Given the description of an element on the screen output the (x, y) to click on. 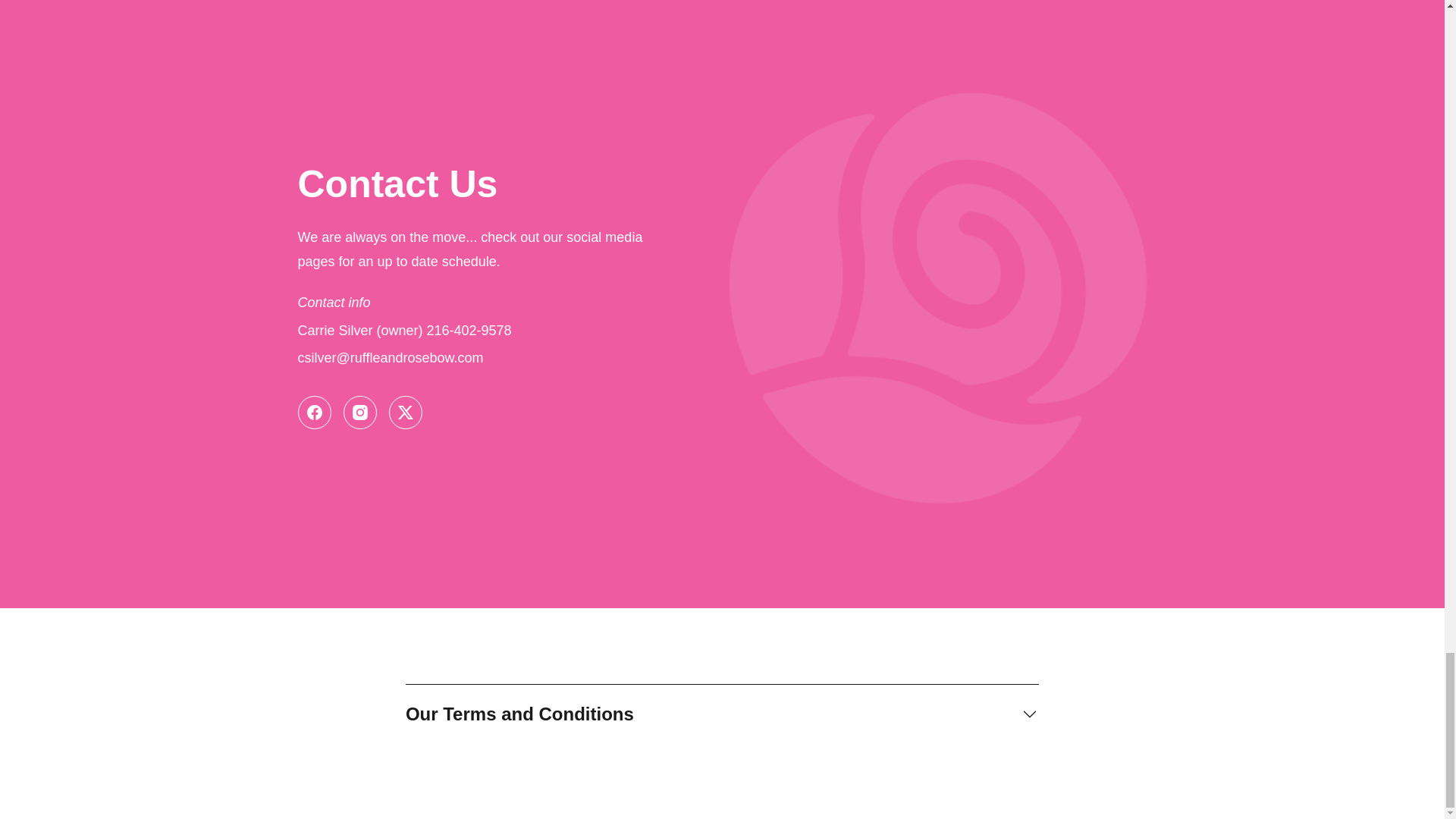
Instagram (358, 412)
Facebook (313, 412)
